Given the description of an element on the screen output the (x, y) to click on. 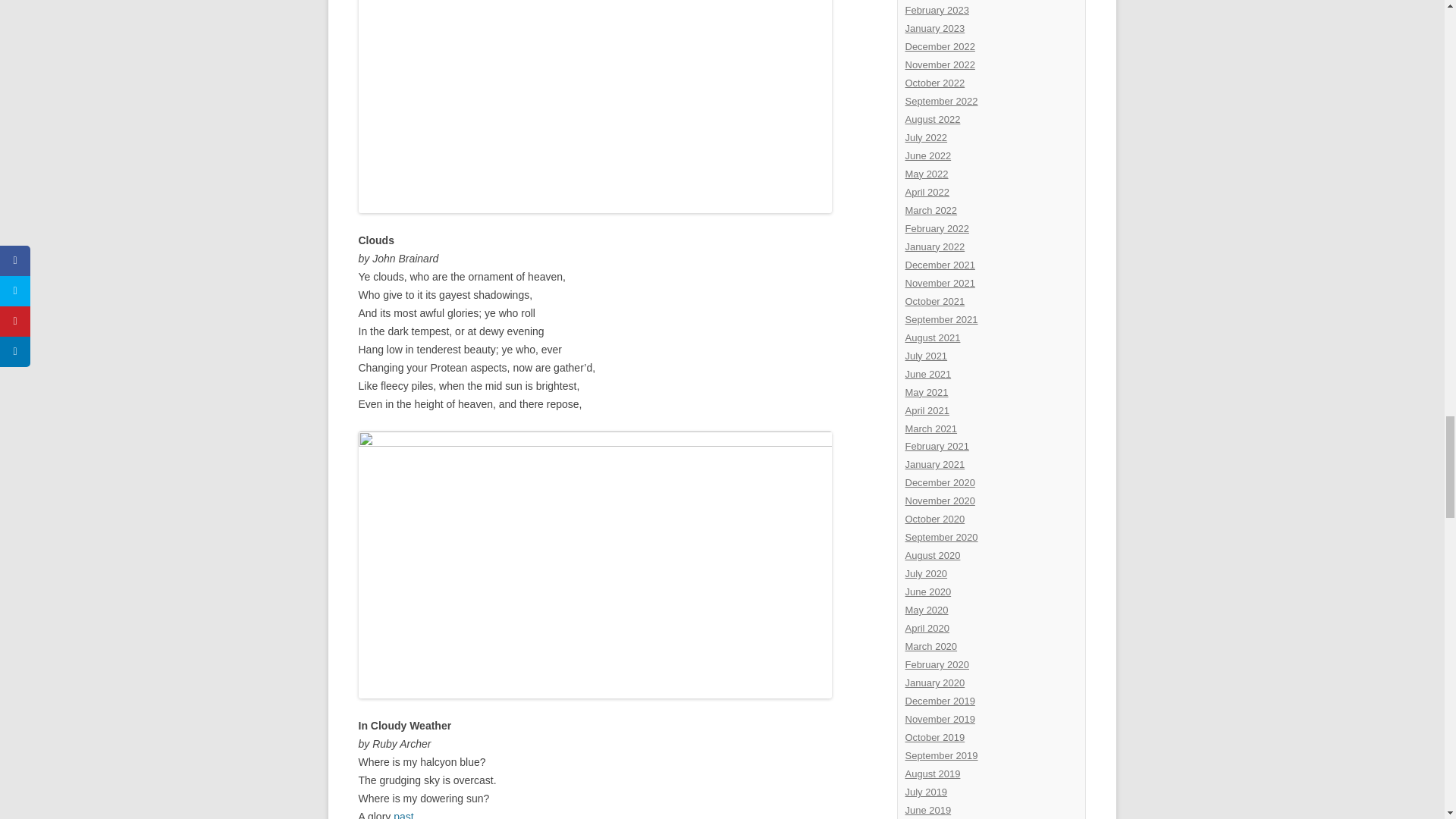
past (403, 814)
